Given the description of an element on the screen output the (x, y) to click on. 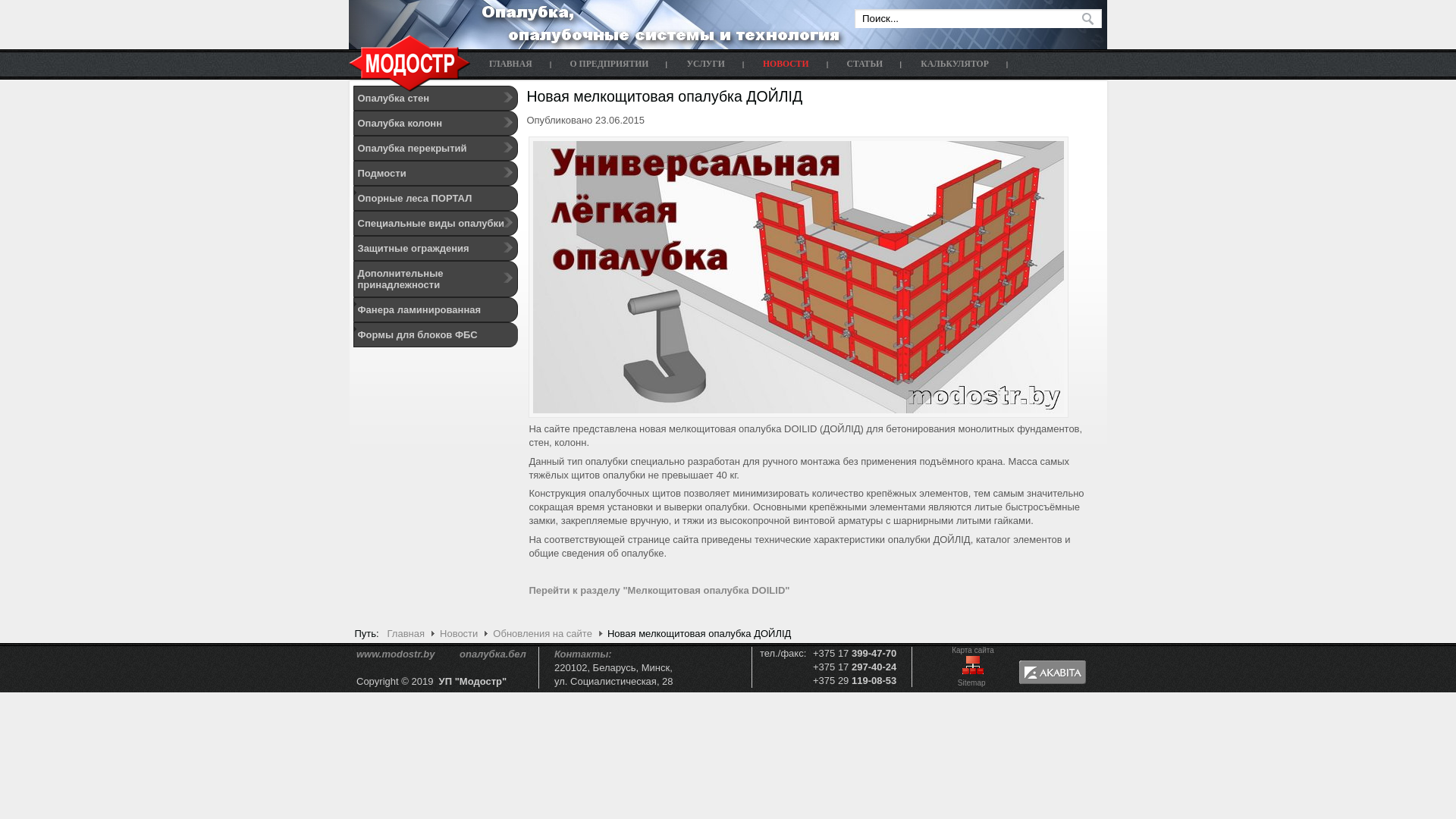
  Element type: text (1084, 18)
www.modostr.by Element type: text (395, 653)
Sitemap  Element type: text (972, 681)
